Given the description of an element on the screen output the (x, y) to click on. 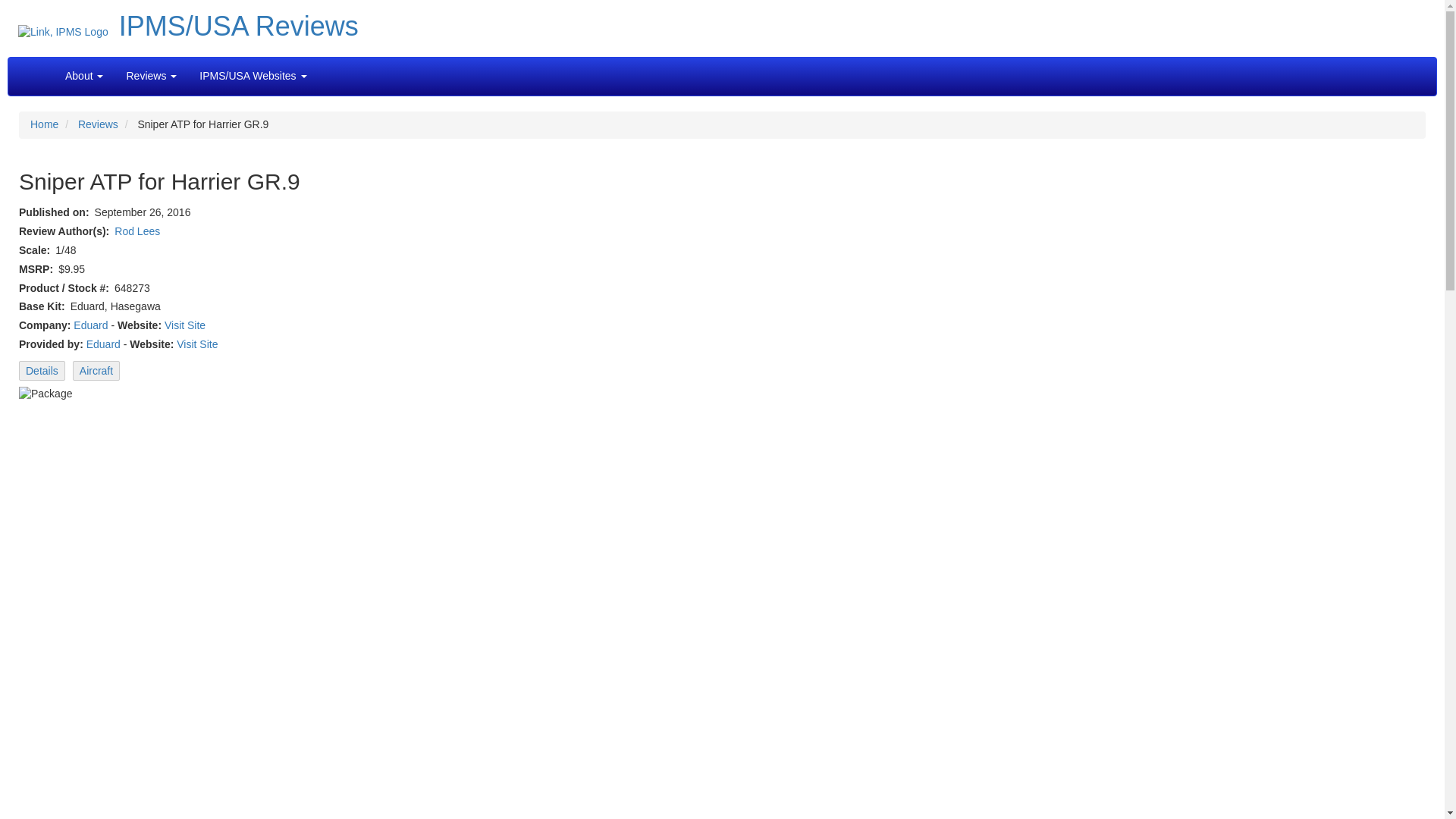
Search (329, 68)
Reviews (150, 76)
Reviews (97, 123)
Eduard (102, 344)
Rod Lees (137, 231)
Visit Site (196, 344)
Aircraft (95, 370)
Home (44, 123)
Details (41, 370)
About (84, 76)
Visit Site (184, 325)
Eduard (90, 325)
